Given the description of an element on the screen output the (x, y) to click on. 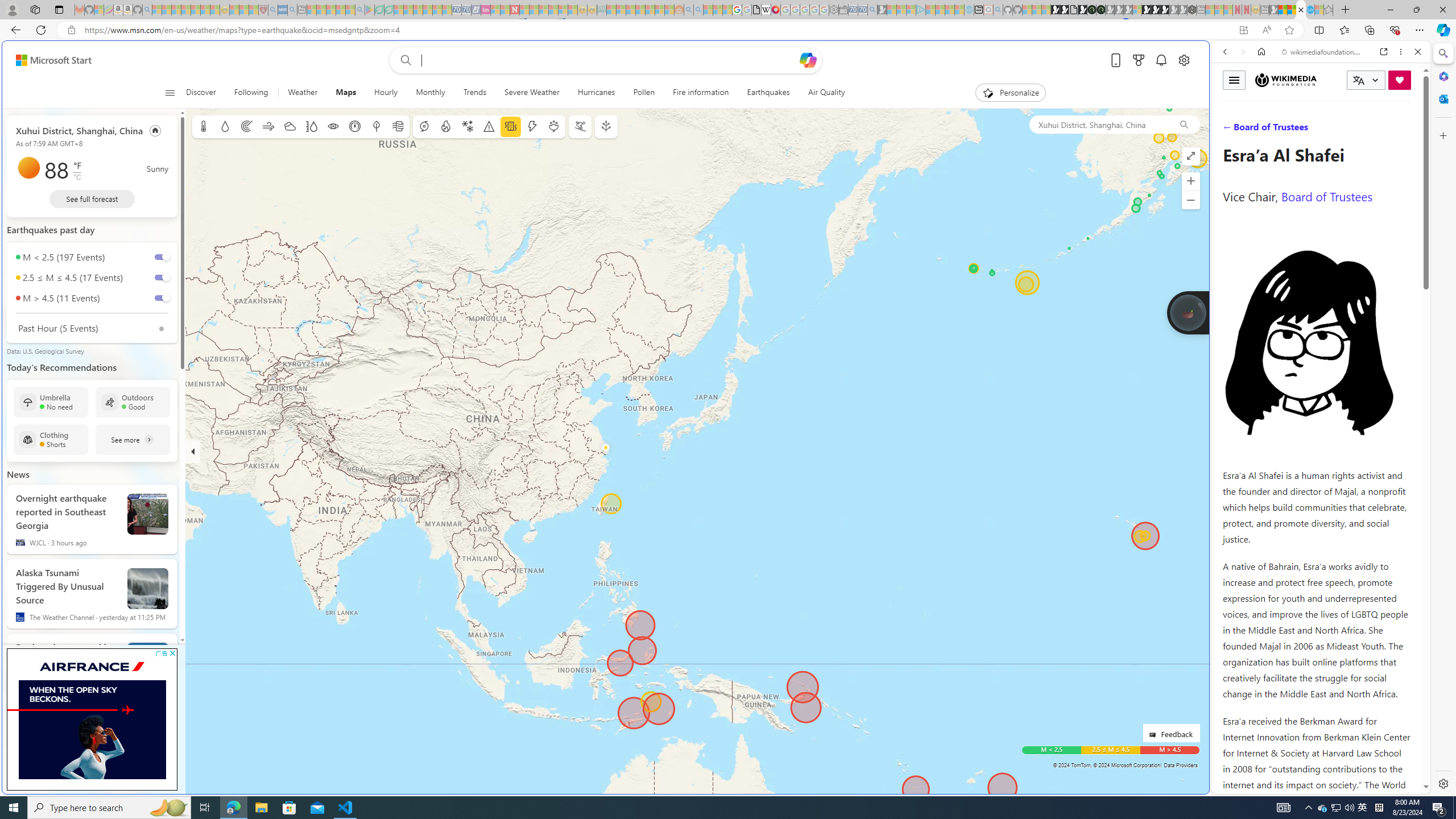
Wallet - Sleeping (843, 9)
VIDEOS (1300, 130)
Future Focus Report 2024 (1100, 9)
Wikimedia Foundation (1286, 79)
Discover (200, 92)
Settings - Sleeping (833, 9)
Open Copilot (807, 59)
Hurricane (423, 126)
Air Quality (826, 92)
See more (133, 439)
